Given the description of an element on the screen output the (x, y) to click on. 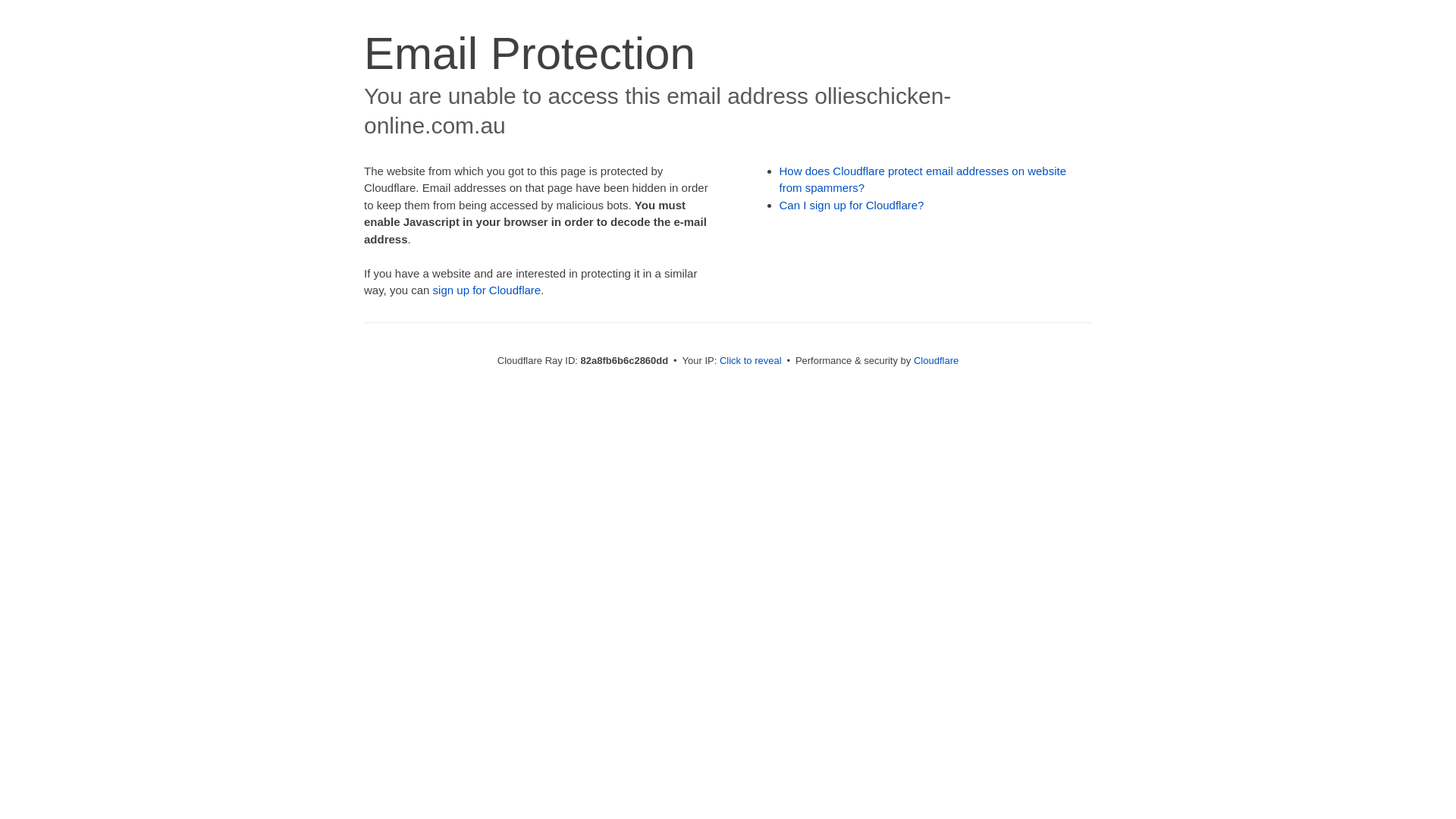
Click to reveal Element type: text (750, 360)
Cloudflare Element type: text (935, 360)
Can I sign up for Cloudflare? Element type: text (851, 204)
sign up for Cloudflare Element type: text (487, 289)
